Given the description of an element on the screen output the (x, y) to click on. 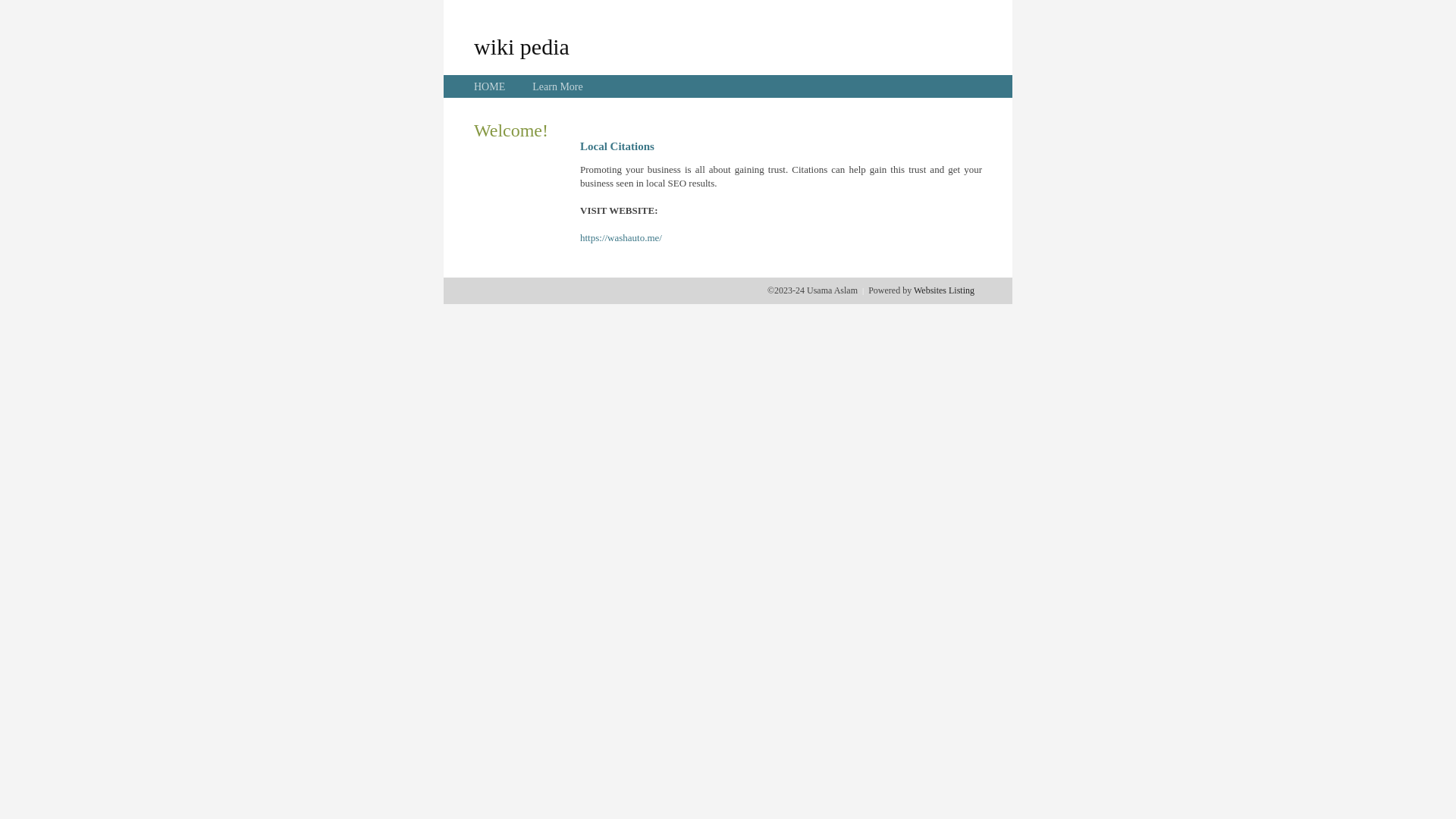
HOME Element type: text (489, 86)
Learn More Element type: text (557, 86)
https://washauto.me/ Element type: text (621, 237)
Websites Listing Element type: text (943, 290)
wiki pedia Element type: text (521, 46)
